Given the description of an element on the screen output the (x, y) to click on. 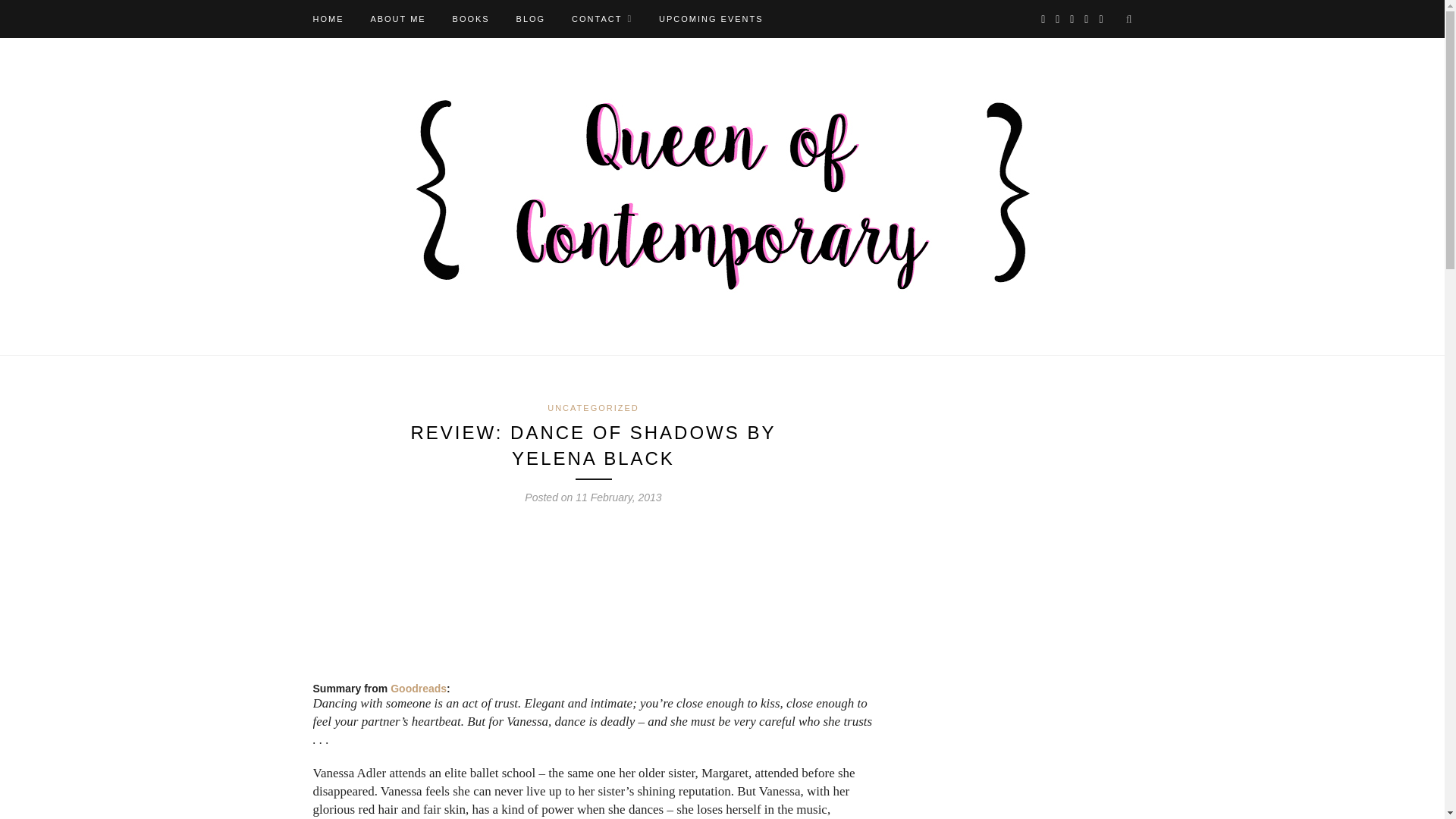
CONTACT (601, 18)
BOOKS (470, 18)
ABOUT ME (397, 18)
UNCATEGORIZED (593, 407)
Goodreads (418, 688)
UPCOMING EVENTS (710, 18)
